Given the description of an element on the screen output the (x, y) to click on. 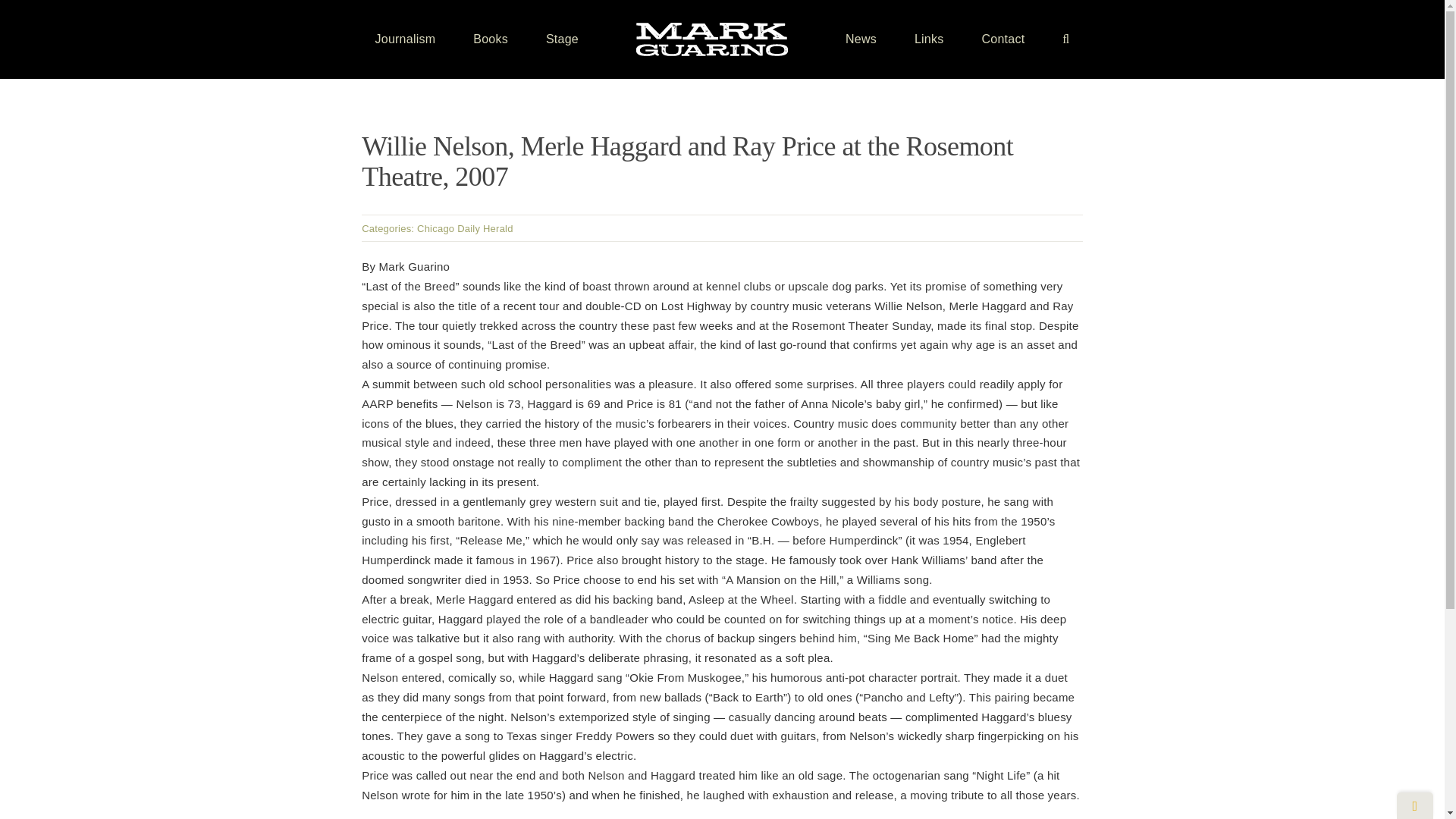
News (860, 39)
Journalism (405, 39)
Chicago Daily Herald (464, 228)
Books (490, 39)
Toggle Sliding Bar Area (1414, 805)
Contact (1003, 39)
Stage (562, 39)
